Given the description of an element on the screen output the (x, y) to click on. 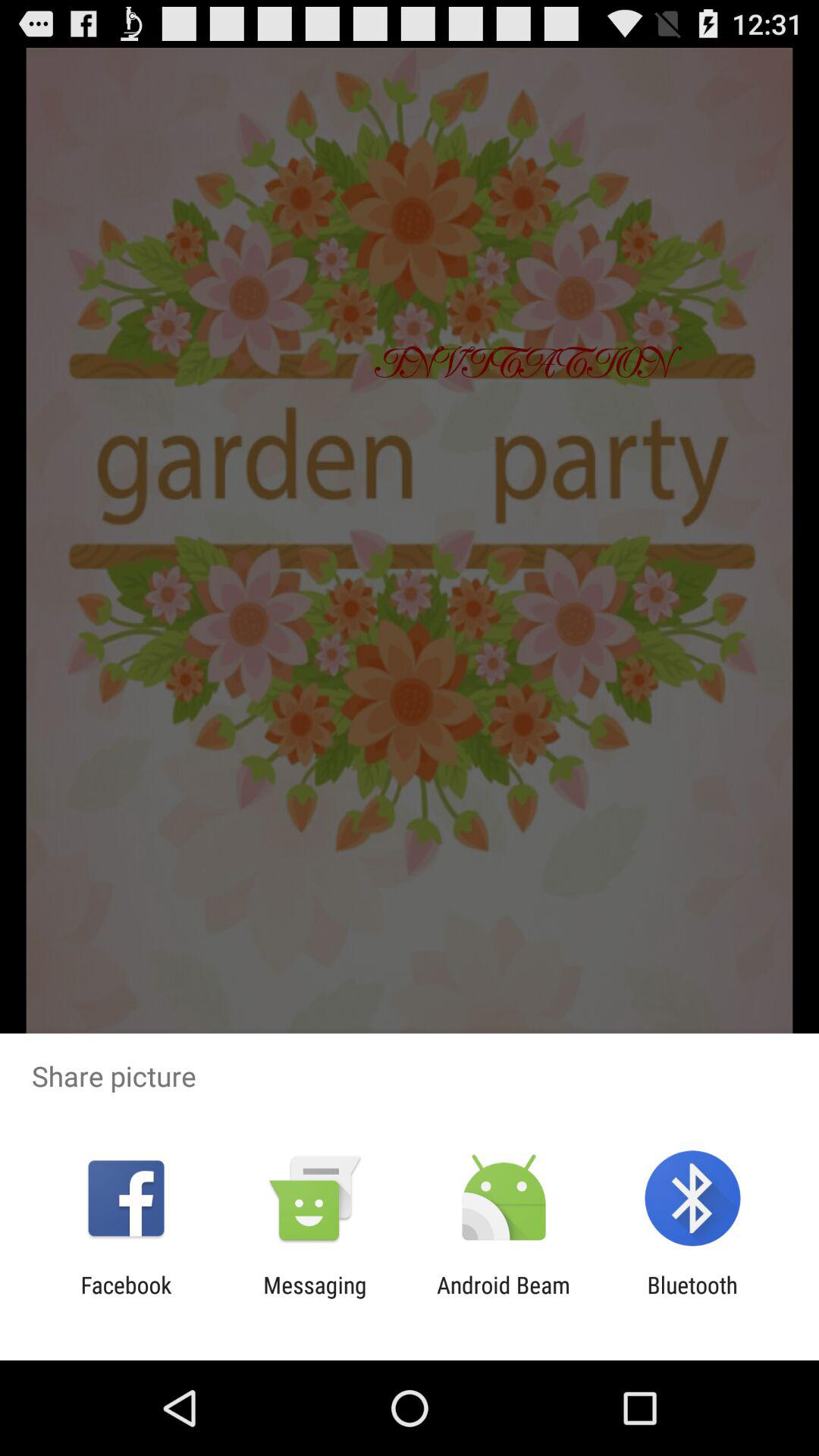
launch the app to the left of bluetooth icon (503, 1298)
